Given the description of an element on the screen output the (x, y) to click on. 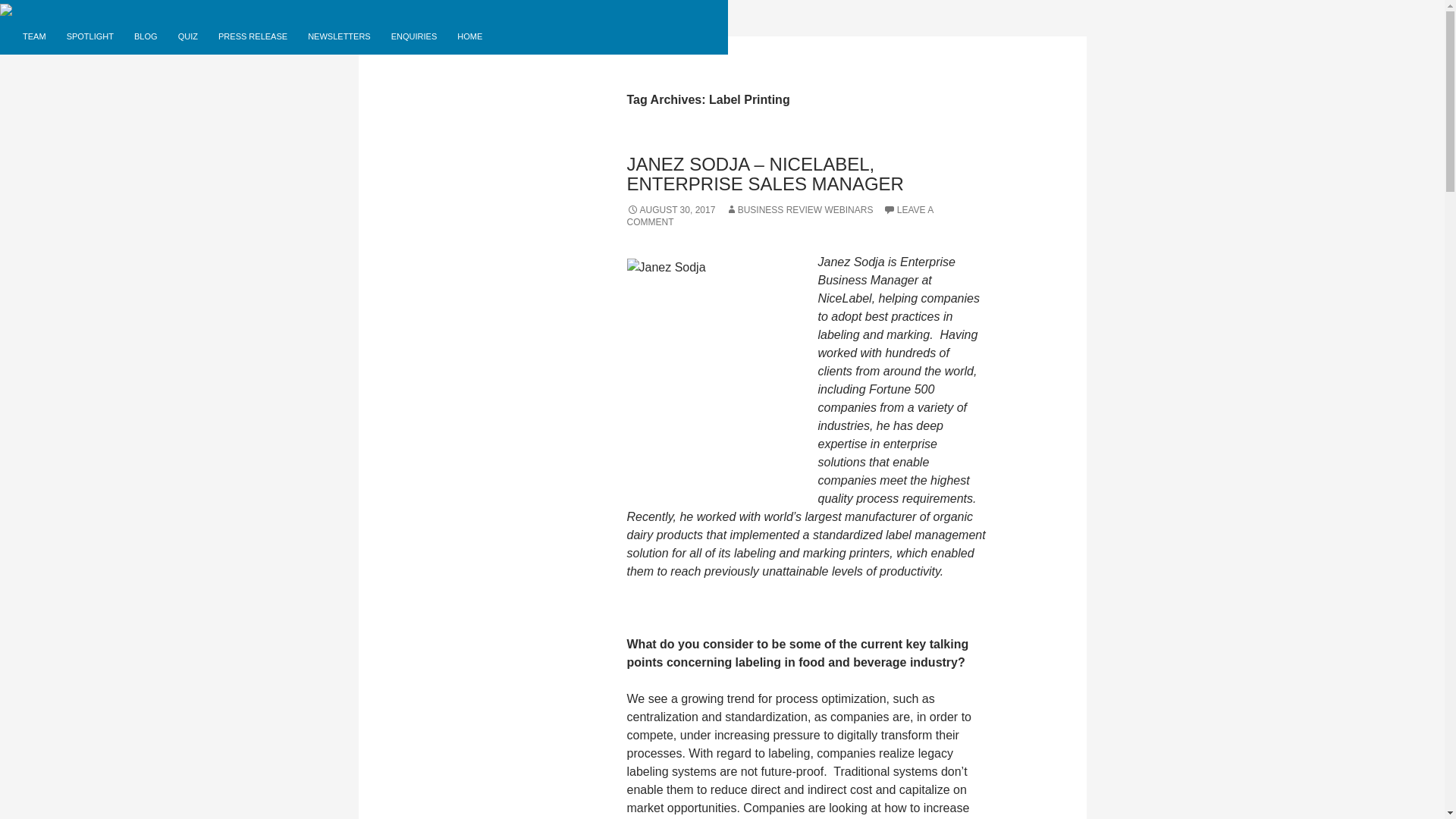
QUIZ (187, 36)
NEWSLETTERS (339, 36)
SPOTLIGHT (90, 36)
SKIP TO CONTENT (59, 24)
ENQUIRIES (413, 36)
TEAM (34, 36)
AUGUST 30, 2017 (670, 209)
BUSINESS REVIEW WEBINARS (799, 209)
PRESS RELEASE (253, 36)
HOME (470, 36)
